Given the description of an element on the screen output the (x, y) to click on. 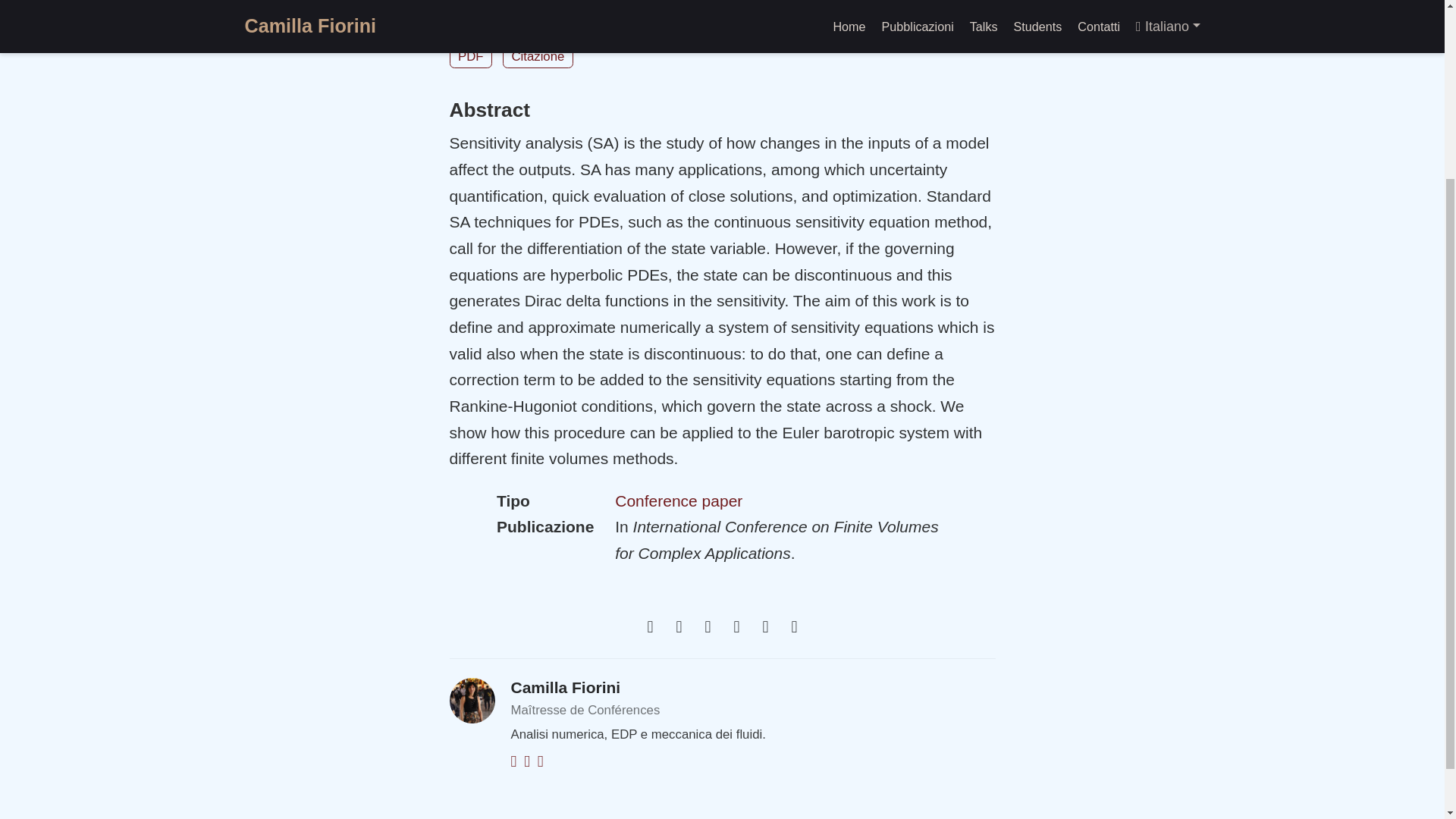
Citazione (537, 56)
Christophe Chalons (498, 4)
Conference paper (678, 500)
PDF (470, 56)
Camilla Fiorini (685, 4)
Camilla Fiorini (566, 687)
